Given the description of an element on the screen output the (x, y) to click on. 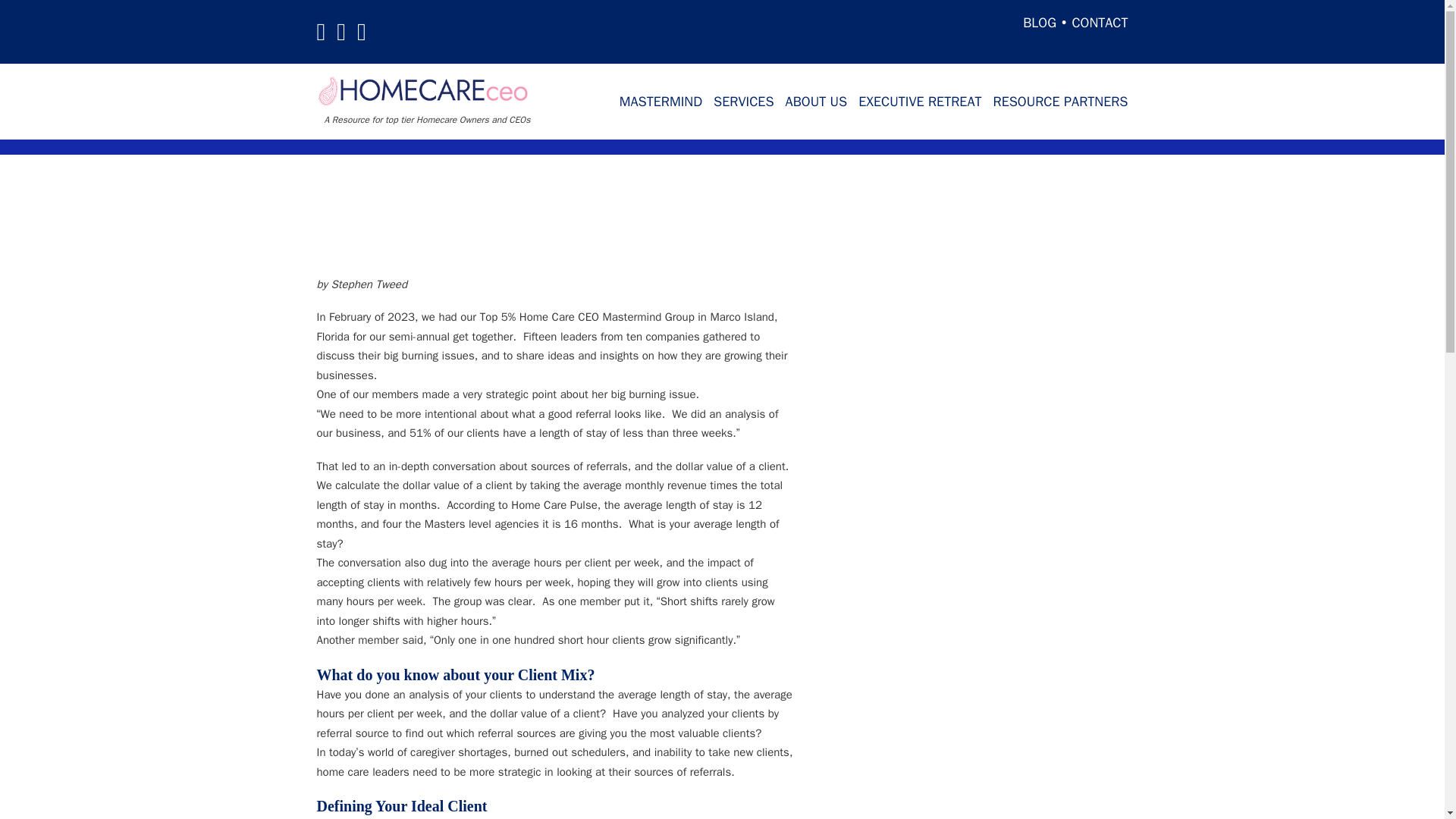
SERVICES (743, 101)
ABOUT US (816, 101)
RESOURCE PARTNERS (1059, 101)
EXECUTIVE RETREAT (920, 101)
CONTACT (1091, 23)
MASTERMIND (660, 101)
BLOG (1040, 23)
